Given the description of an element on the screen output the (x, y) to click on. 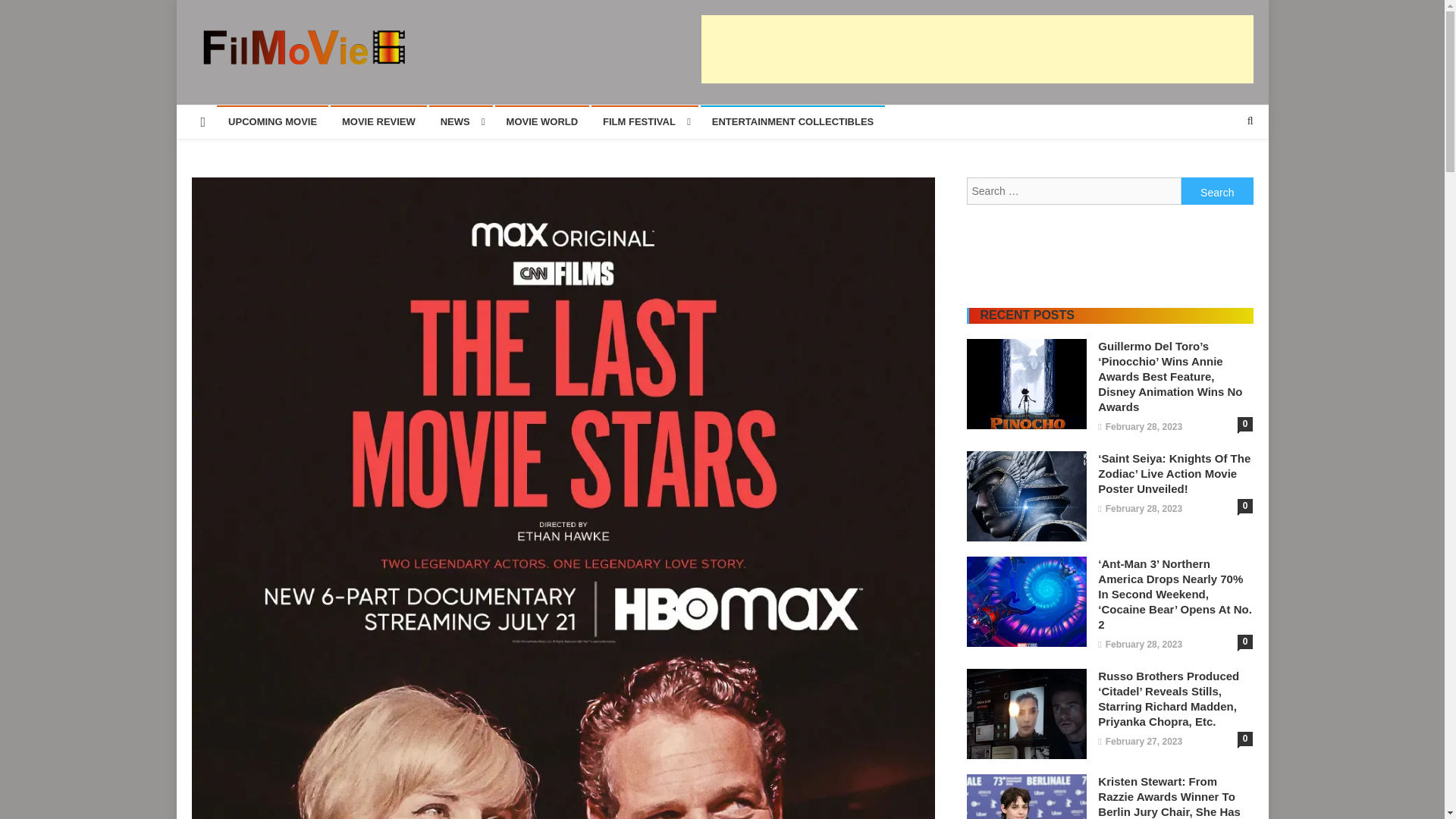
Search (1216, 190)
FILM FESTIVAL (644, 121)
MOVIE REVIEW (378, 121)
MOVIE WORLD (542, 121)
Search (1216, 190)
ENTERTAINMENT COLLECTIBLES (792, 121)
NEWS (461, 121)
UPCOMING MOVIE (272, 121)
Search (1221, 171)
FMV6 (223, 79)
